Given the description of an element on the screen output the (x, y) to click on. 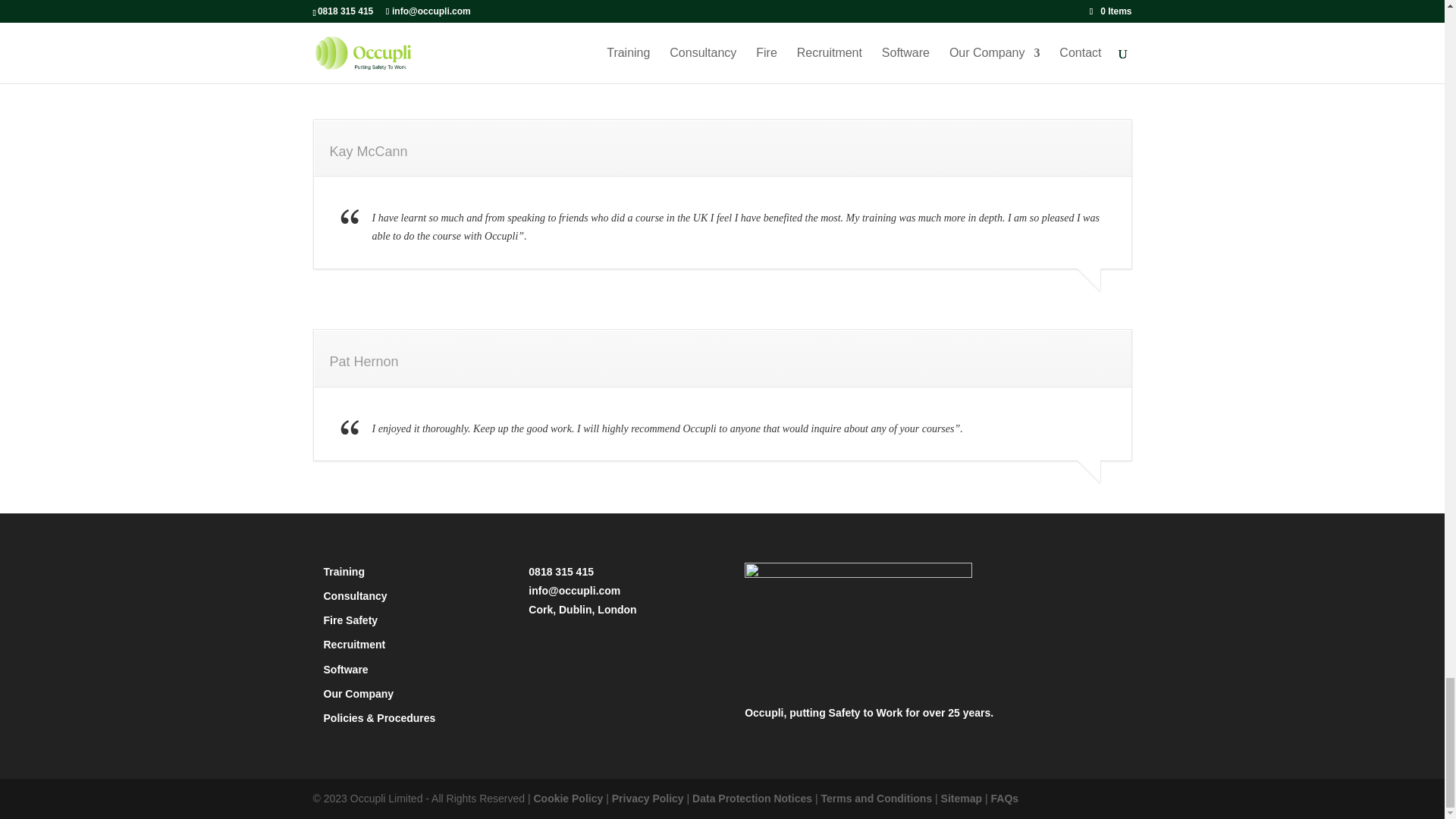
Recruitment (354, 644)
Terms and Conditions (876, 798)
Training (343, 571)
Privacy Policy (647, 798)
Our Company (358, 693)
FAQs (1003, 798)
Software (345, 669)
Sitemap (960, 798)
Consultancy (355, 595)
Data Protection Notices (752, 798)
Fire Safety (350, 620)
Cookie Policy (567, 798)
